Given the description of an element on the screen output the (x, y) to click on. 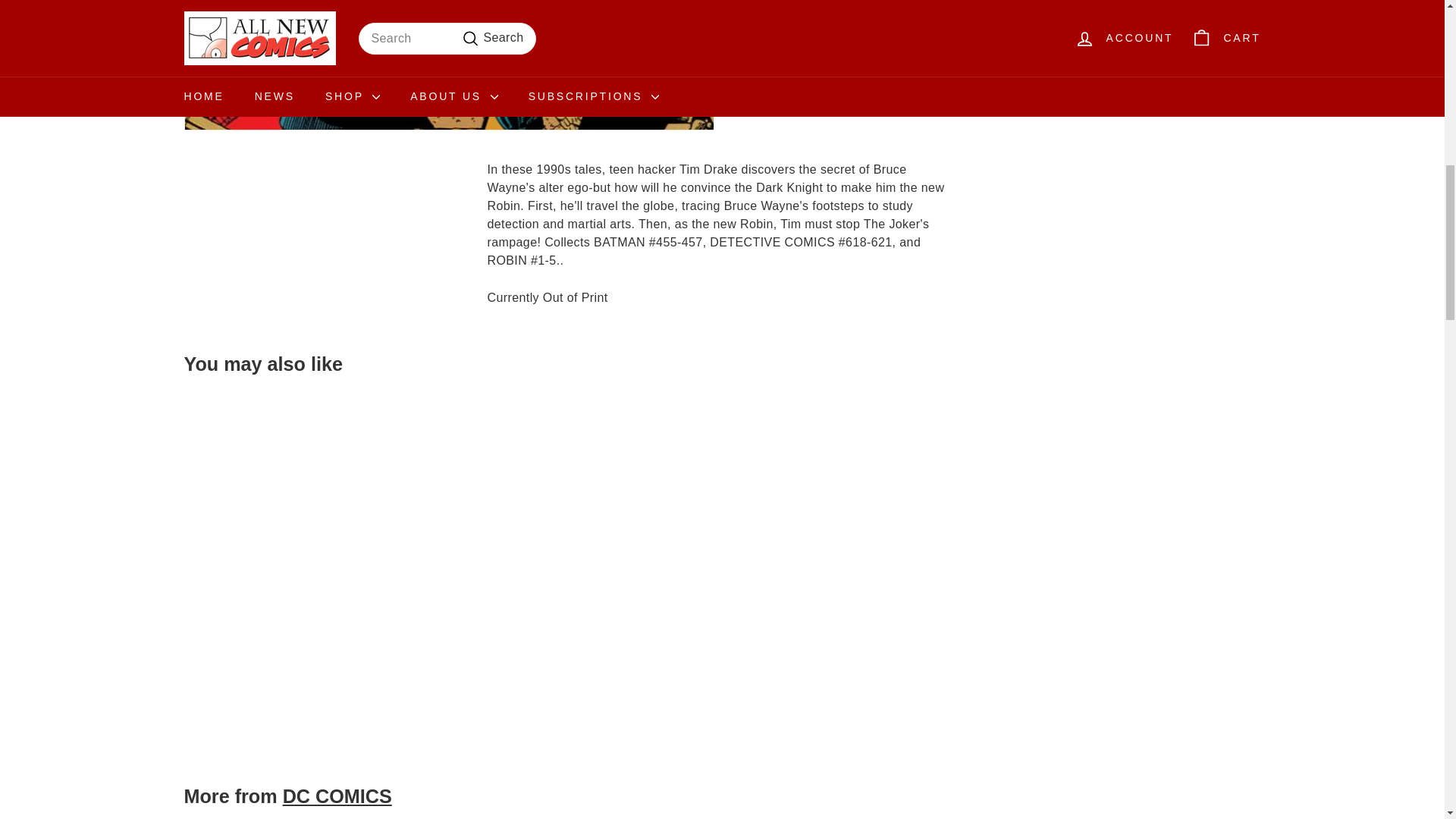
DC COMICS (336, 795)
